Given the description of an element on the screen output the (x, y) to click on. 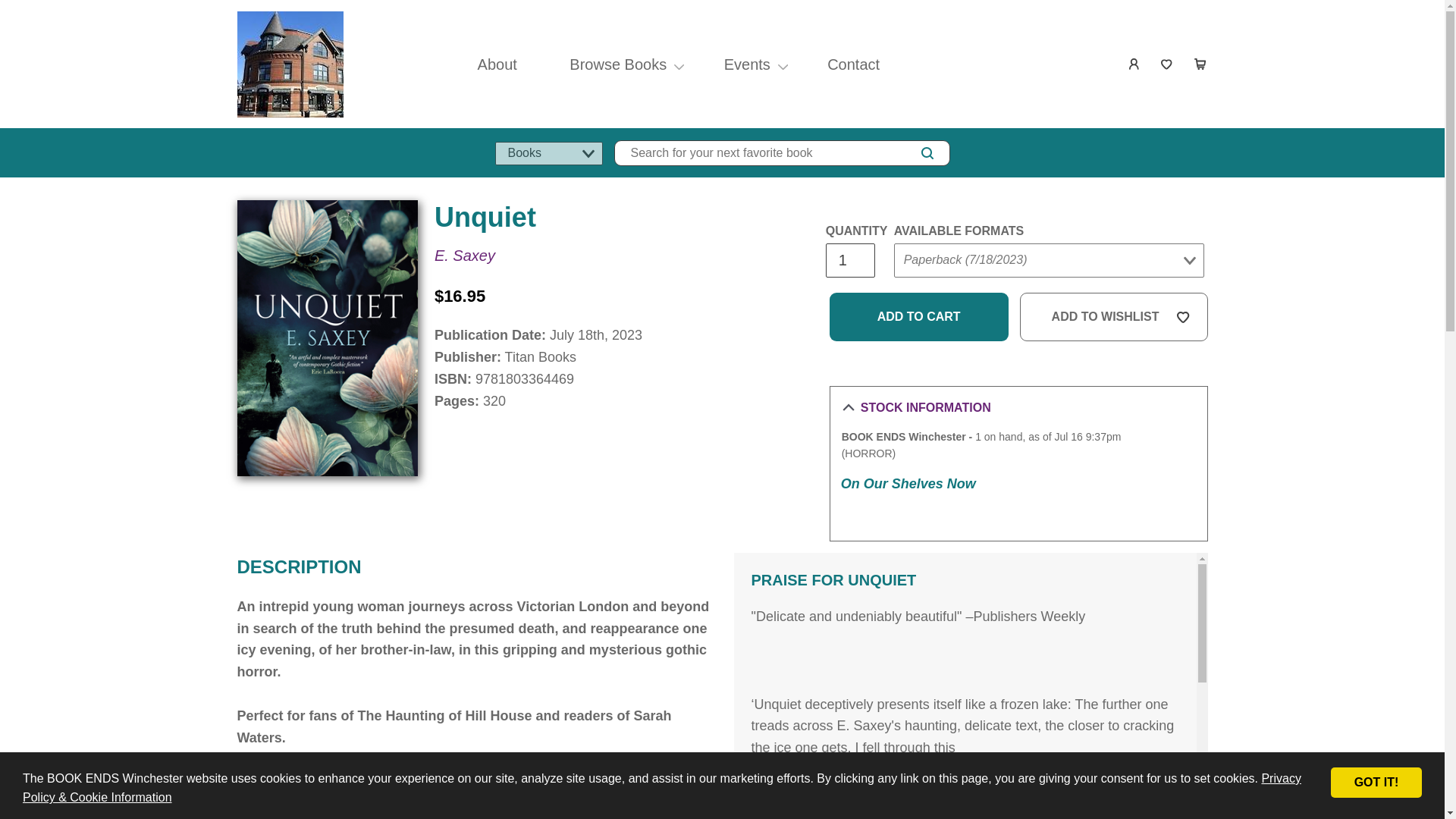
ADD TO WISHLIST (1114, 316)
Log in (1134, 64)
Submit (922, 290)
Wishlists (1168, 64)
Add to cart (919, 316)
E. Saxey (464, 255)
Events (747, 64)
SEARCH (926, 152)
Browse Books (617, 64)
1 (850, 260)
Cart (1200, 64)
Wishlist (1168, 64)
Contact (852, 64)
Add to cart (919, 316)
